Given the description of an element on the screen output the (x, y) to click on. 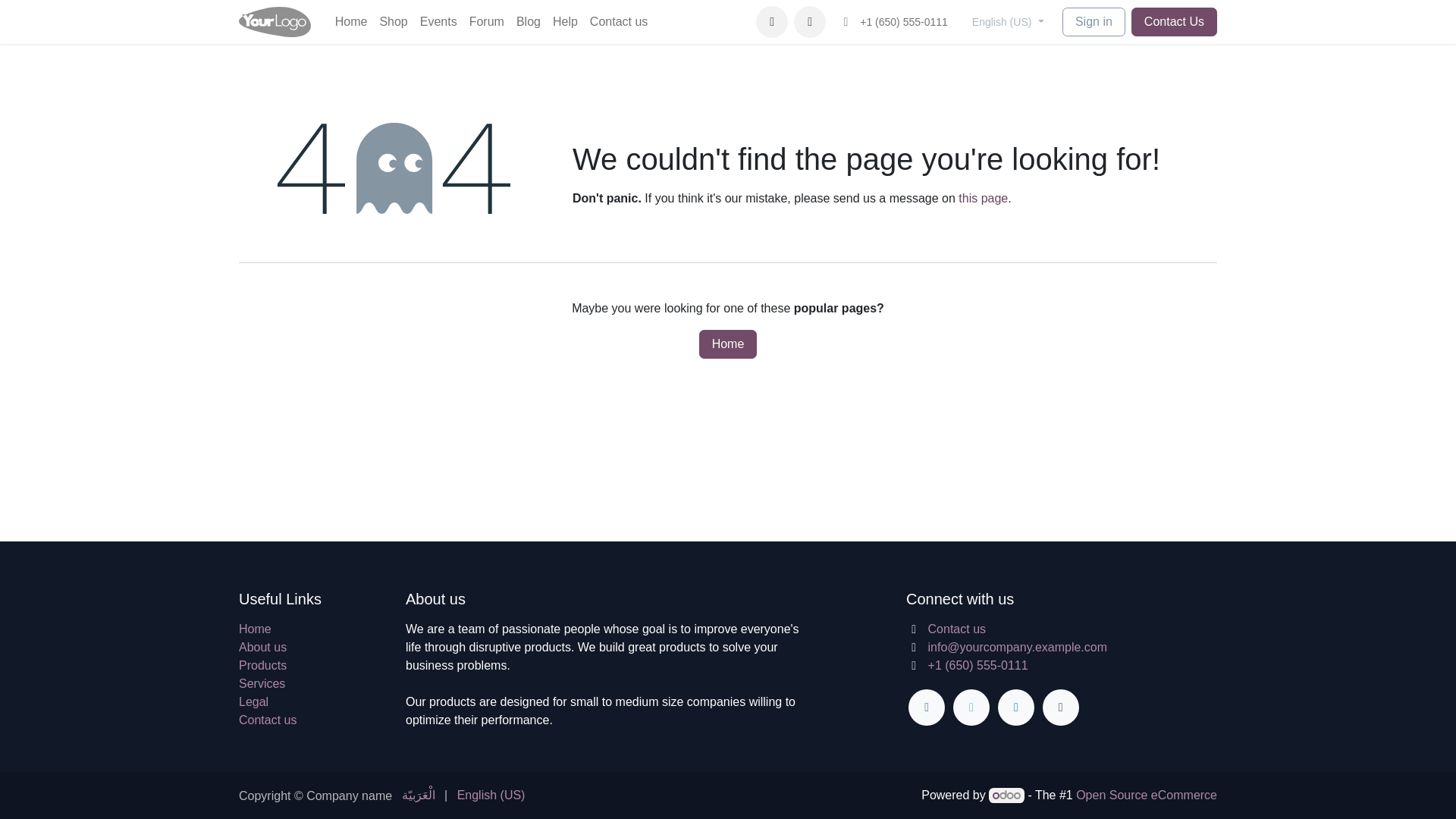
iCare Products (274, 21)
this page (982, 197)
Events (438, 21)
Sign in (1093, 21)
Help (565, 21)
Home (351, 21)
Search (809, 21)
Home (727, 344)
Home (254, 628)
Shop (392, 21)
